Given the description of an element on the screen output the (x, y) to click on. 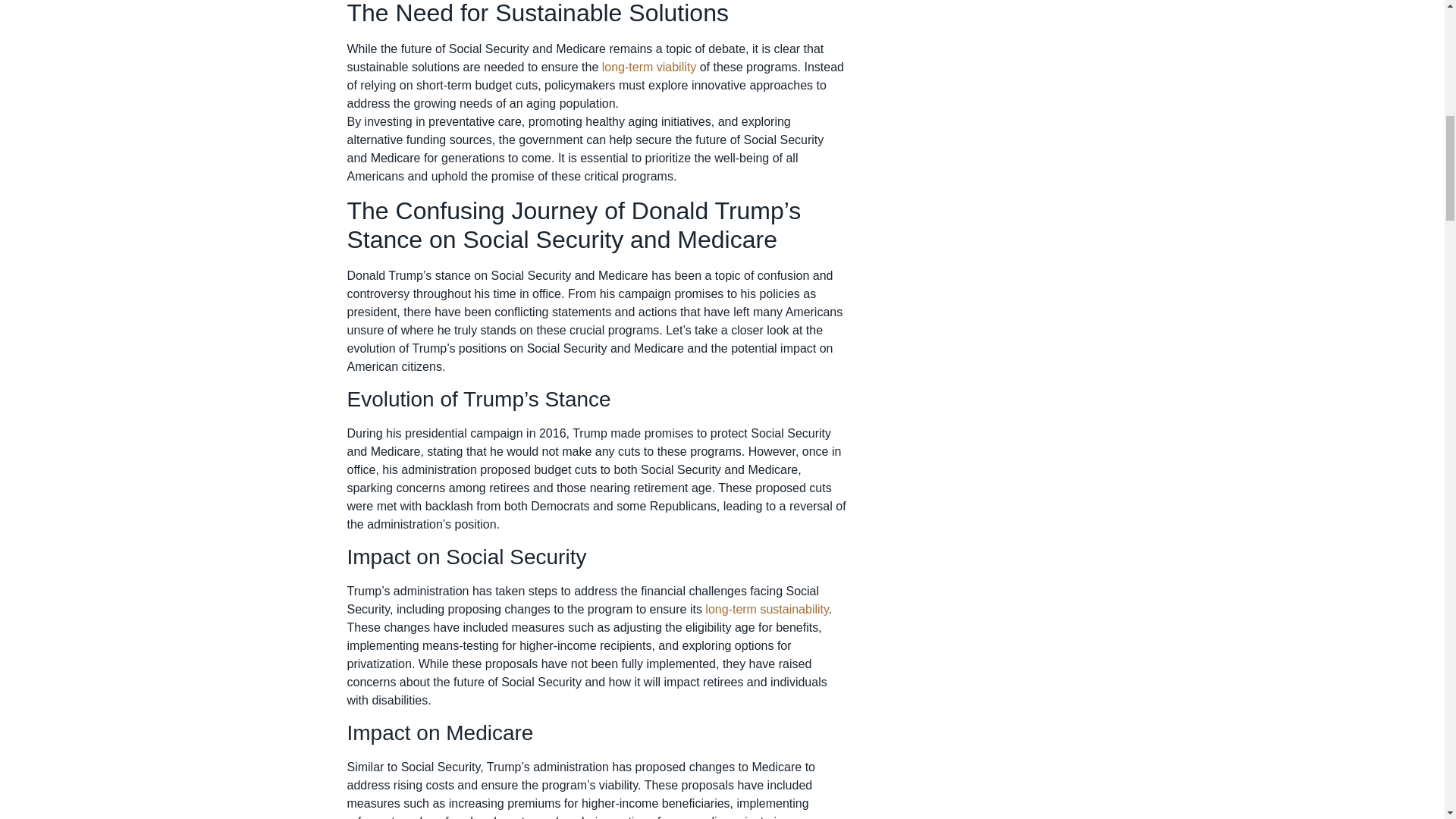
Estate Planning for Business: Why it is Important? (766, 608)
long-term sustainability (766, 608)
What Is Estate Planning? (648, 66)
long-term viability (648, 66)
